Given the description of an element on the screen output the (x, y) to click on. 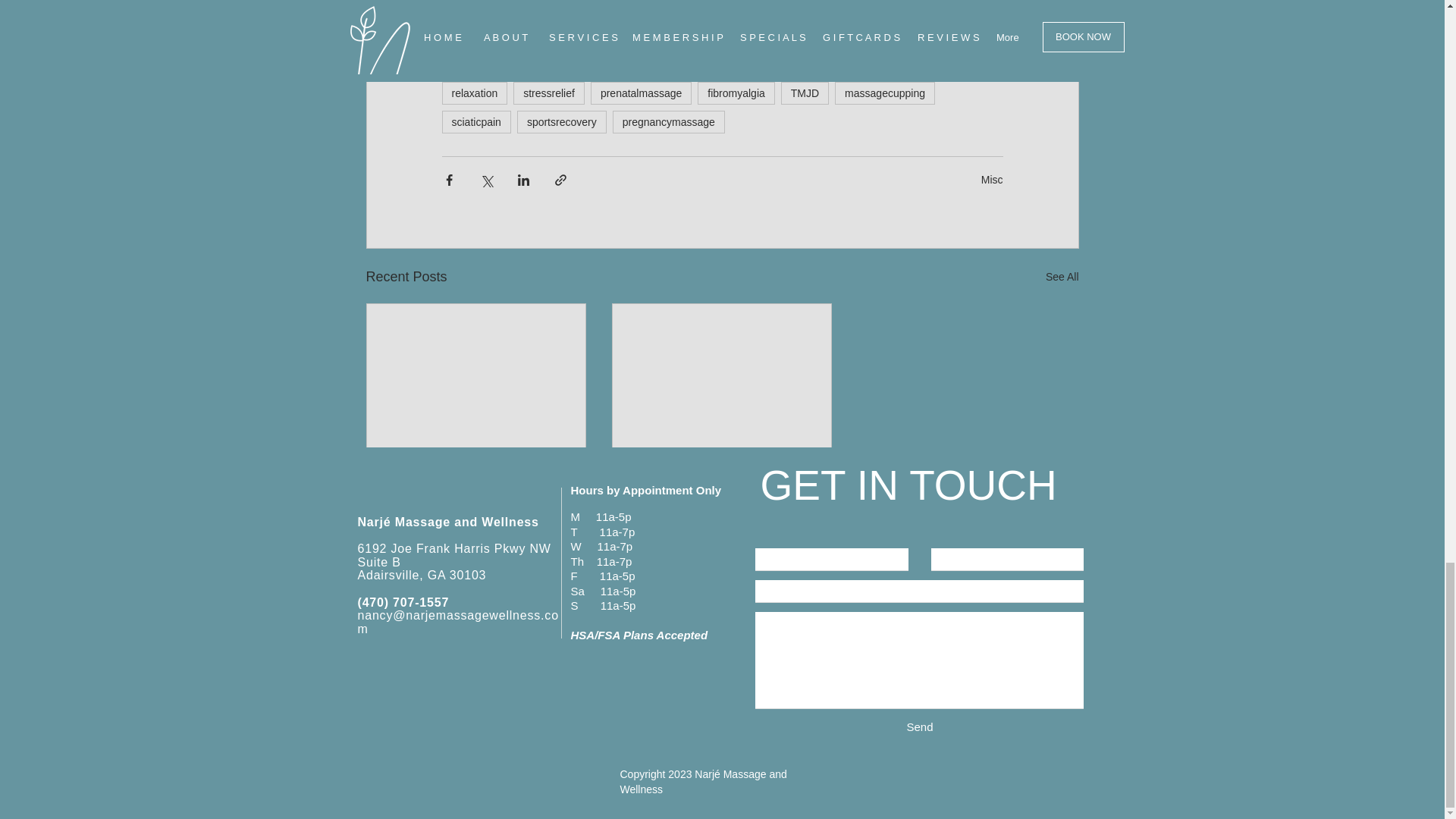
depression (824, 35)
therapeuticmassage (498, 64)
massage (472, 35)
stress (699, 35)
anxiety (756, 35)
bartowcounty (604, 64)
deeptissue (901, 35)
migraines (684, 64)
chronicpain (632, 35)
adairsvillega (550, 35)
